Given the description of an element on the screen output the (x, y) to click on. 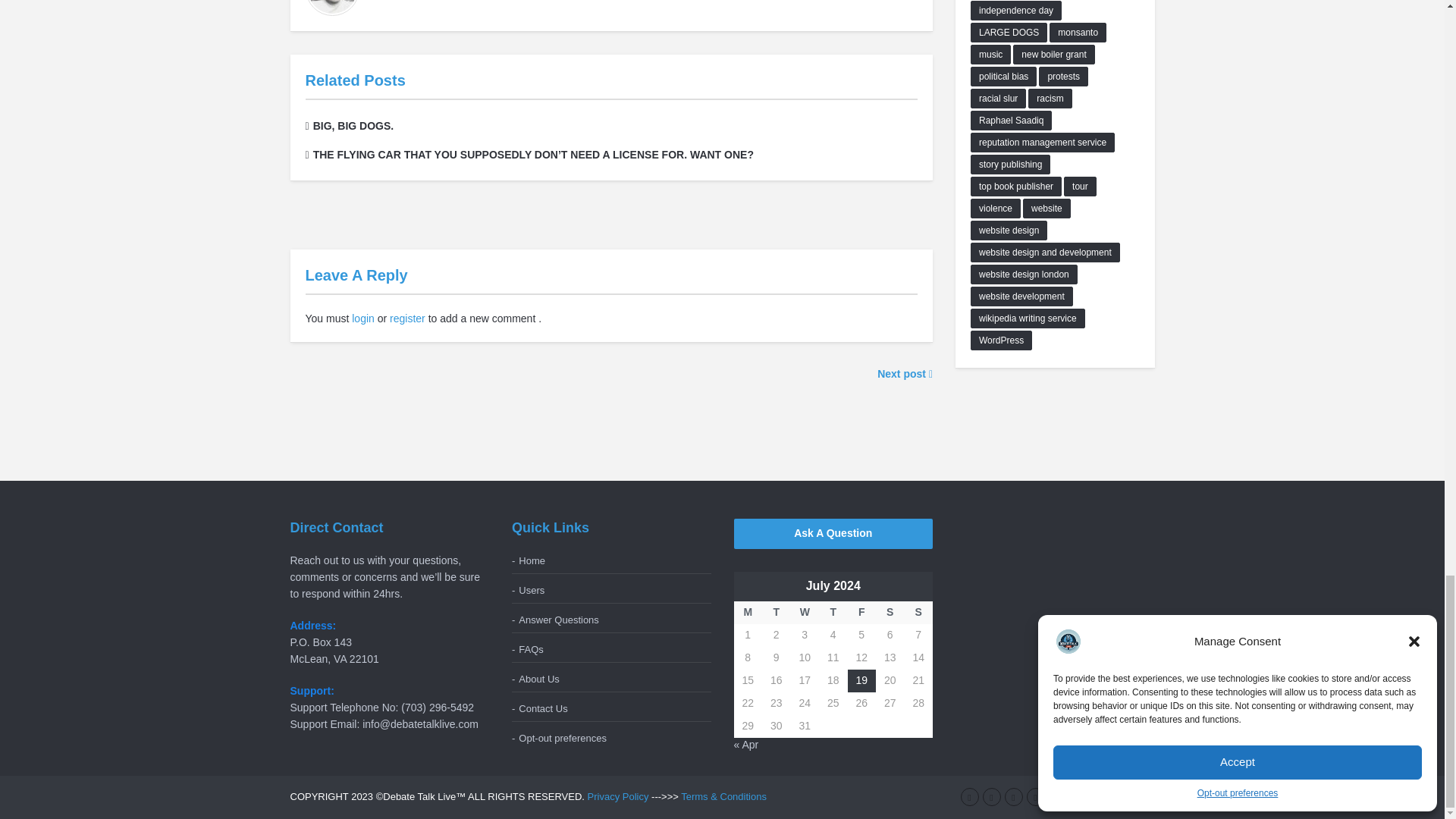
BIG, BIG DOGS. (348, 125)
